Given the description of an element on the screen output the (x, y) to click on. 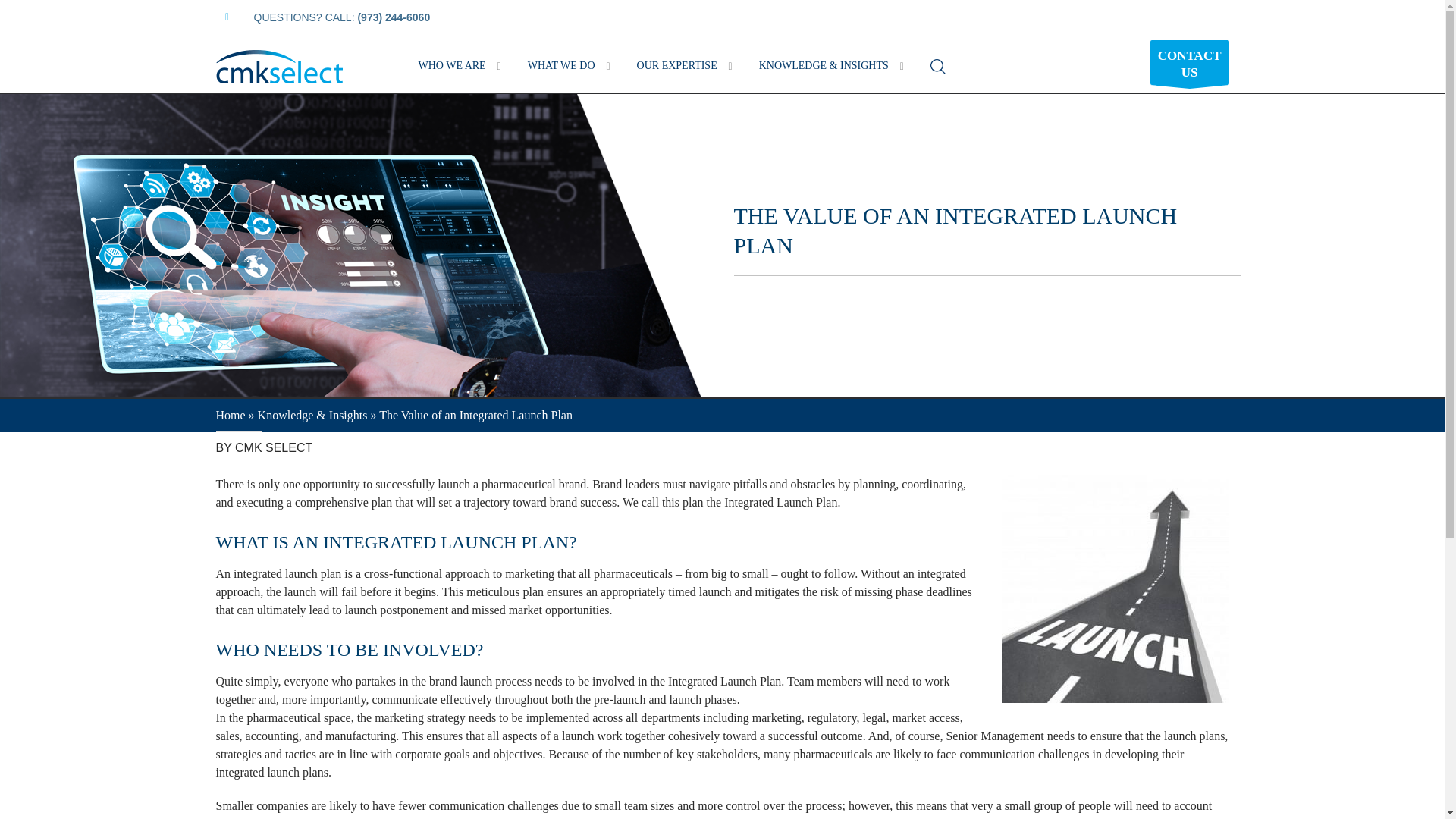
LinkedIn (226, 16)
OUR EXPERTISE (678, 65)
WHAT WE DO (562, 65)
WHO WE ARE (453, 65)
CMKSELECT (278, 66)
